Given the description of an element on the screen output the (x, y) to click on. 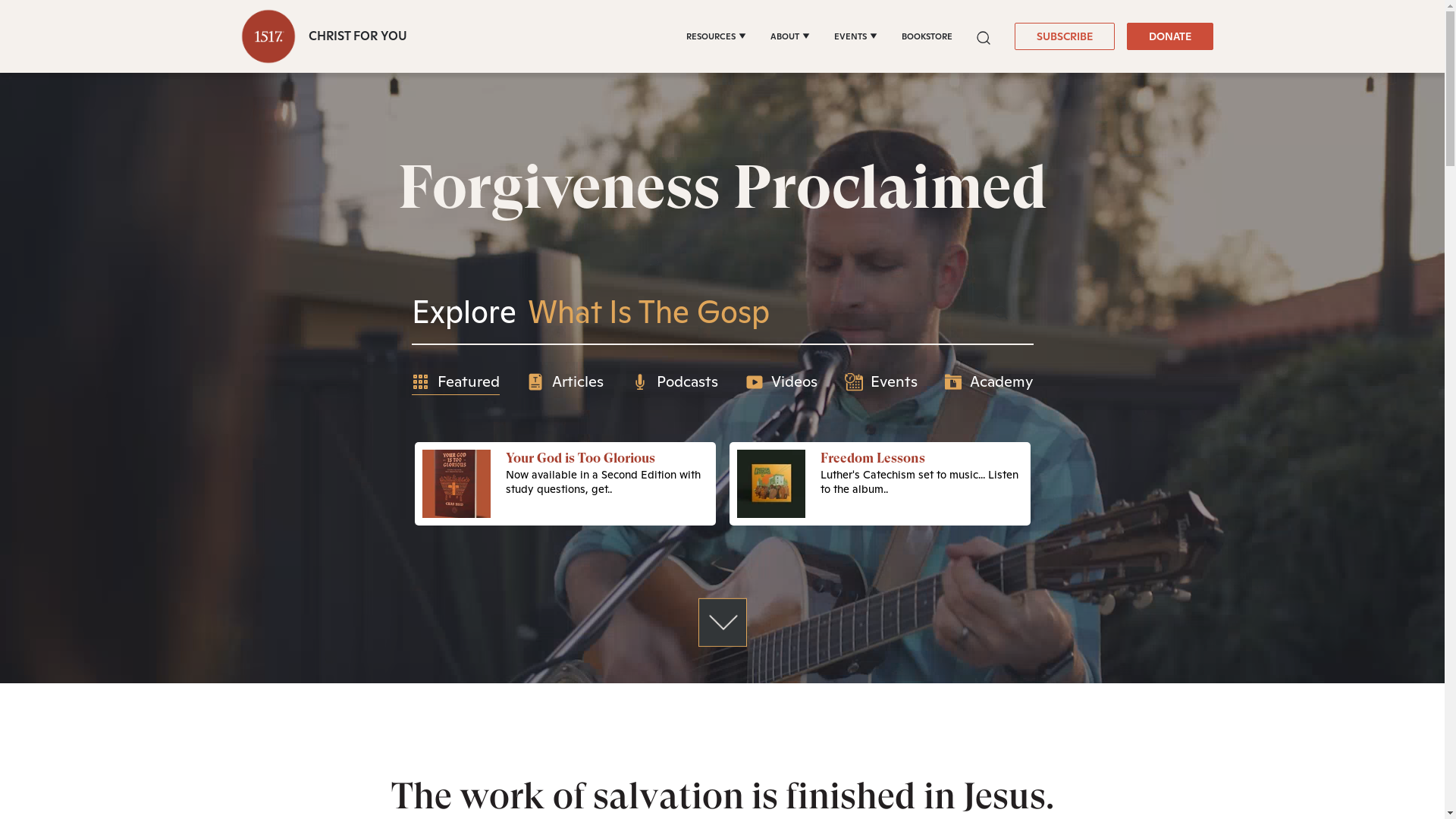
DONATE Element type: text (1169, 36)
EVENTS Element type: text (855, 35)
RESOURCES Element type: text (715, 35)
BOOKSTORE Element type: text (925, 35)
SUBSCRIBE Element type: text (1064, 36)
CHRIST FOR YOU Element type: text (319, 36)
ABOUT Element type: text (790, 35)
